Given the description of an element on the screen output the (x, y) to click on. 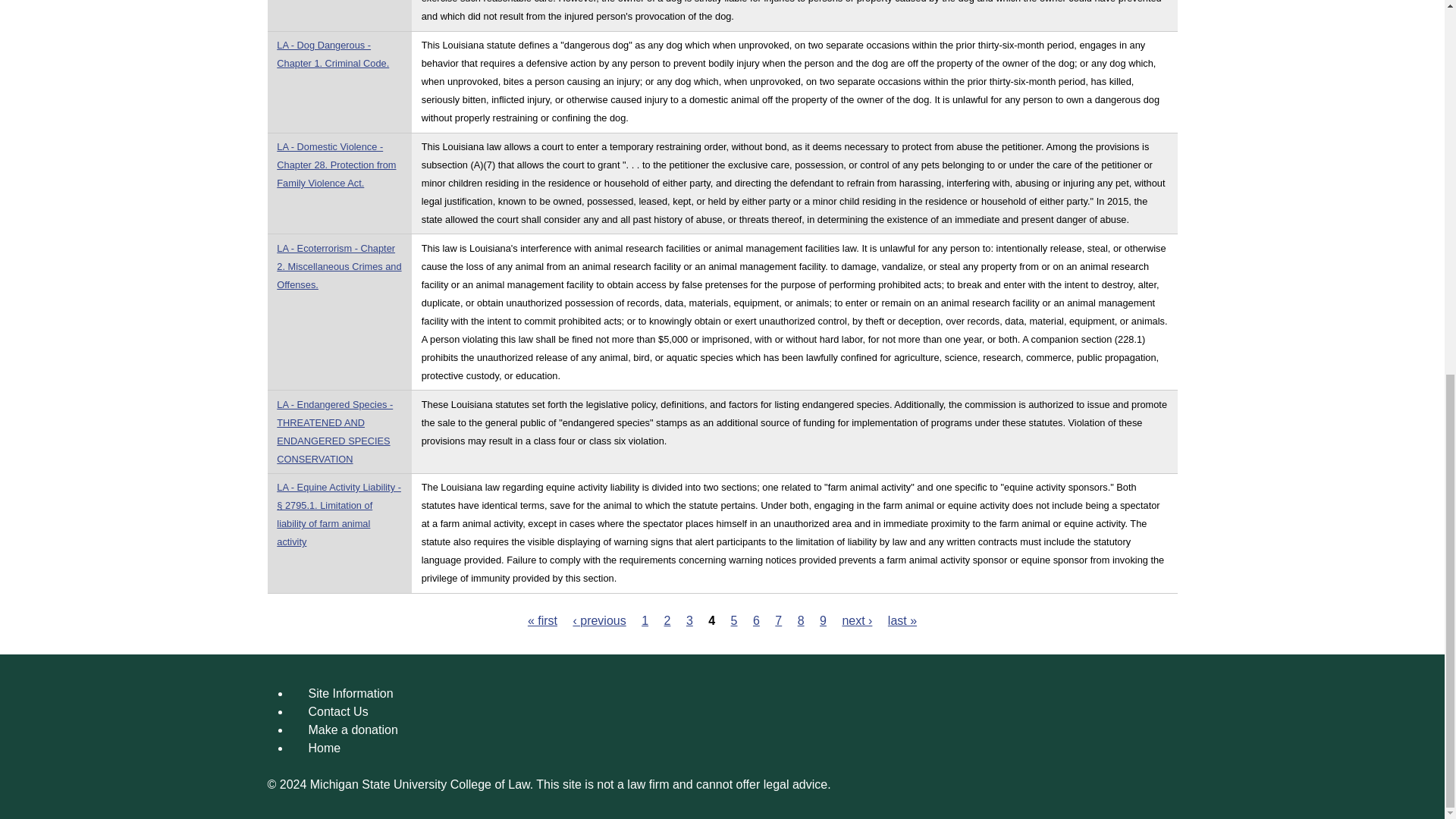
LA - Dog Dangerous - Chapter 1. Criminal Code. (332, 53)
Go to previous page (599, 620)
Go to first page (542, 620)
Go to next page (856, 620)
